Given the description of an element on the screen output the (x, y) to click on. 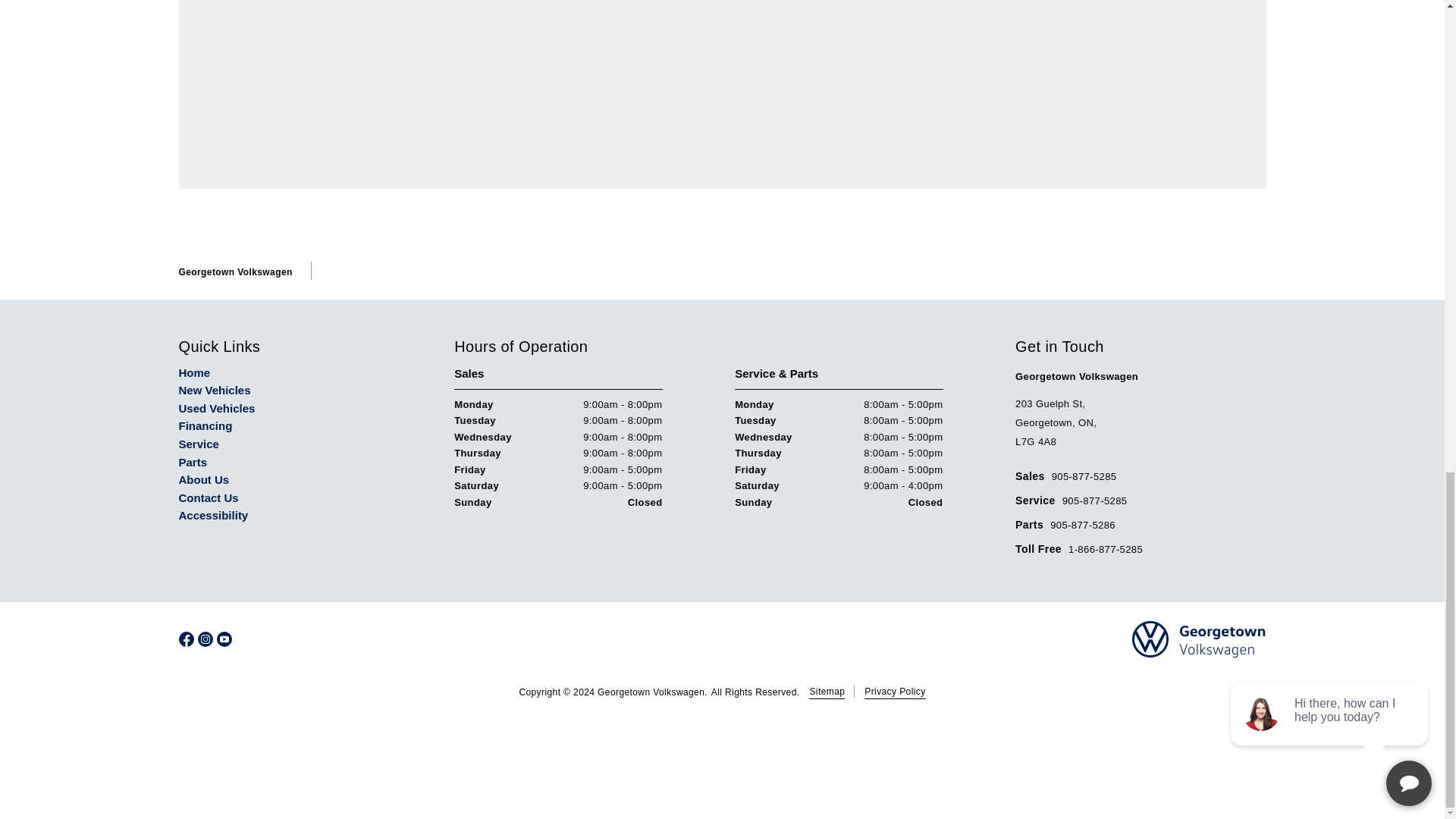
Go to Georgetown Volkswagen. (235, 271)
Privacy Policy (894, 691)
Powered by EDealer (721, 747)
Call 905-877-5285 (1065, 476)
Call 905-877-5285 (1070, 500)
Sitemap (826, 691)
Call 1-866-877-5285 (1078, 549)
Call 905-877-5286 (1064, 524)
